Given the description of an element on the screen output the (x, y) to click on. 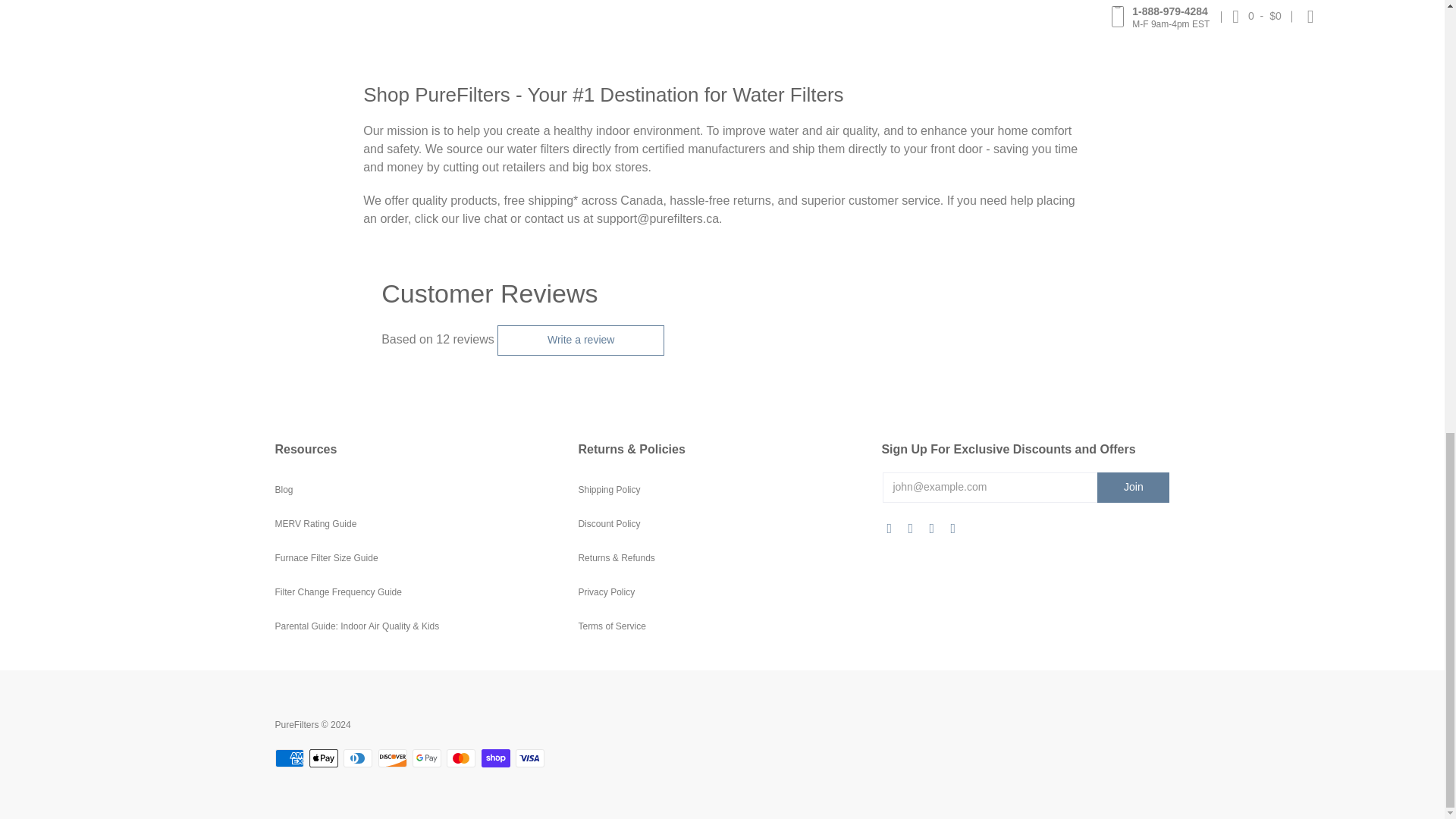
Apple Pay (322, 758)
Discover (392, 758)
Mastercard (461, 758)
Visa (529, 758)
American Express (288, 758)
Join (1133, 486)
Diners Club (357, 758)
Google Pay (426, 758)
Shop Pay (496, 758)
